Given the description of an element on the screen output the (x, y) to click on. 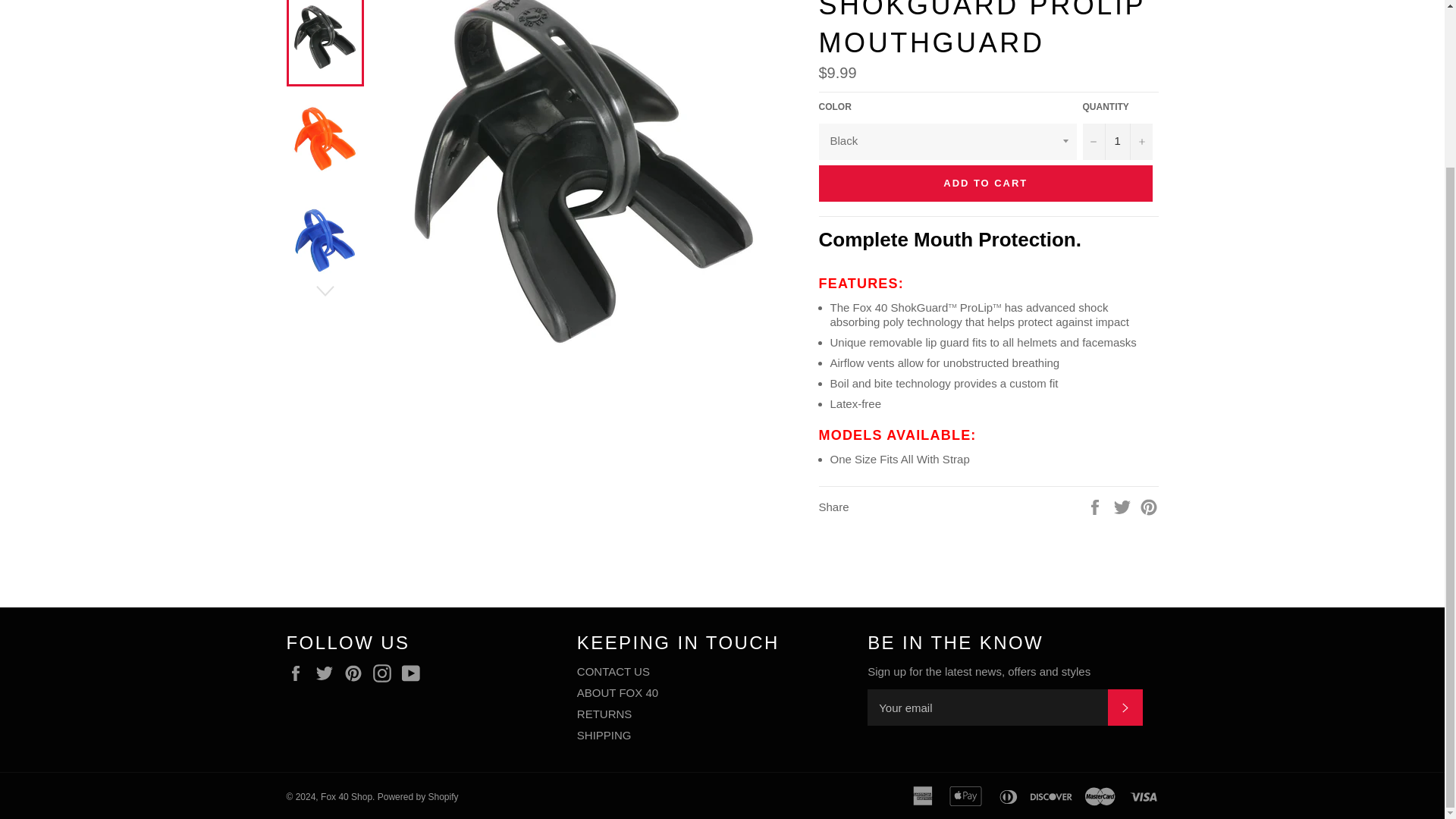
Tweet on Twitter (1123, 505)
Pin on Pinterest (1148, 505)
ADD TO CART (985, 183)
Tweet on Twitter (1123, 505)
RETURNS (605, 713)
Fox 40 Shop on Pinterest (356, 673)
Fox 40 Shop on Instagram (385, 673)
Fox 40 Shop on YouTube (414, 673)
CONTACT US (612, 671)
Fox 40 Shop on Facebook (299, 673)
Share on Facebook (1096, 505)
Fox 40 Shop on Twitter (327, 673)
Share on Facebook (1096, 505)
SHIPPING DISCLAIMER (603, 735)
ABOUT US (617, 692)
